Given the description of an element on the screen output the (x, y) to click on. 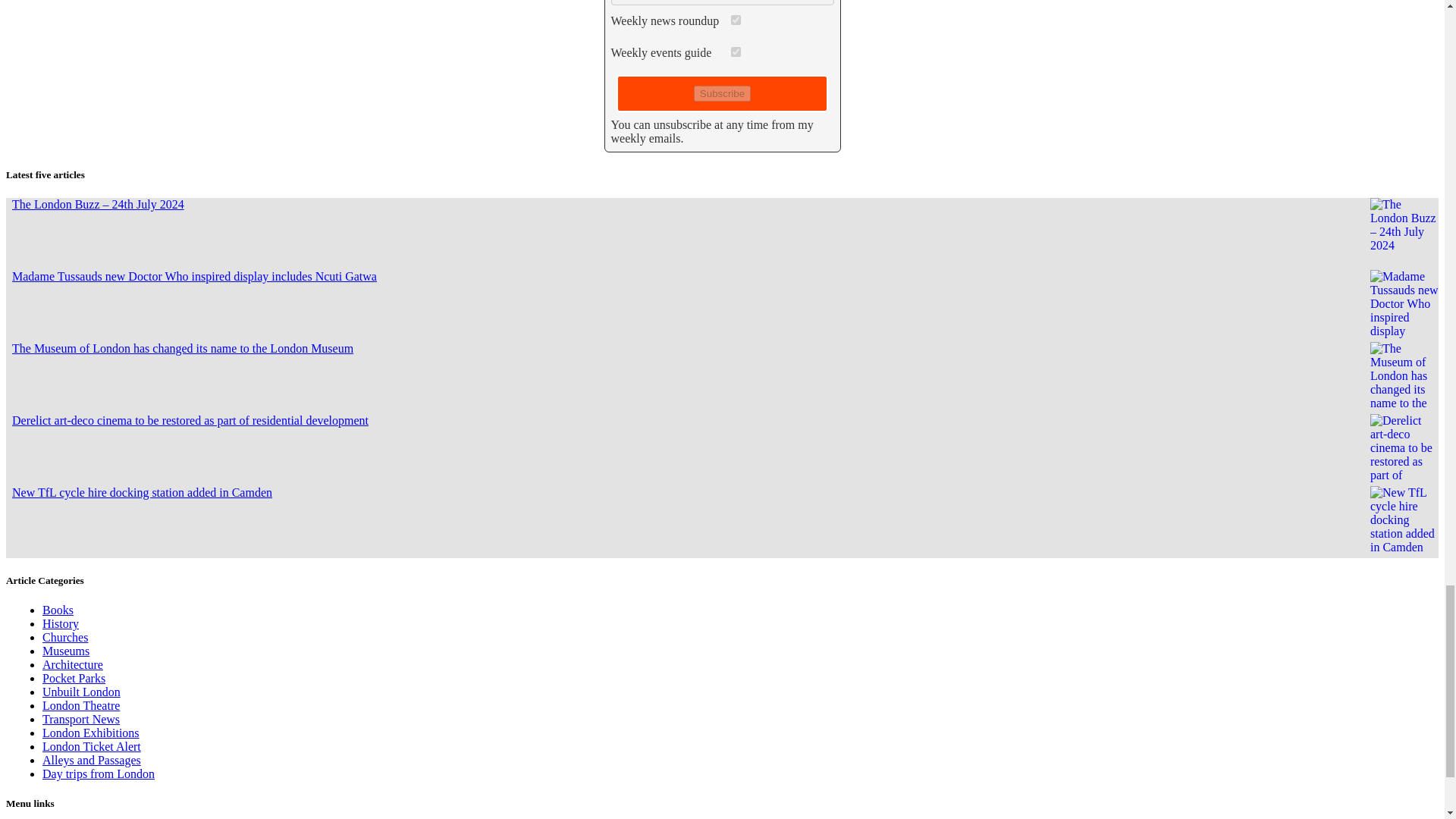
yes (735, 51)
Subscribe (722, 93)
yes (735, 20)
